Given the description of an element on the screen output the (x, y) to click on. 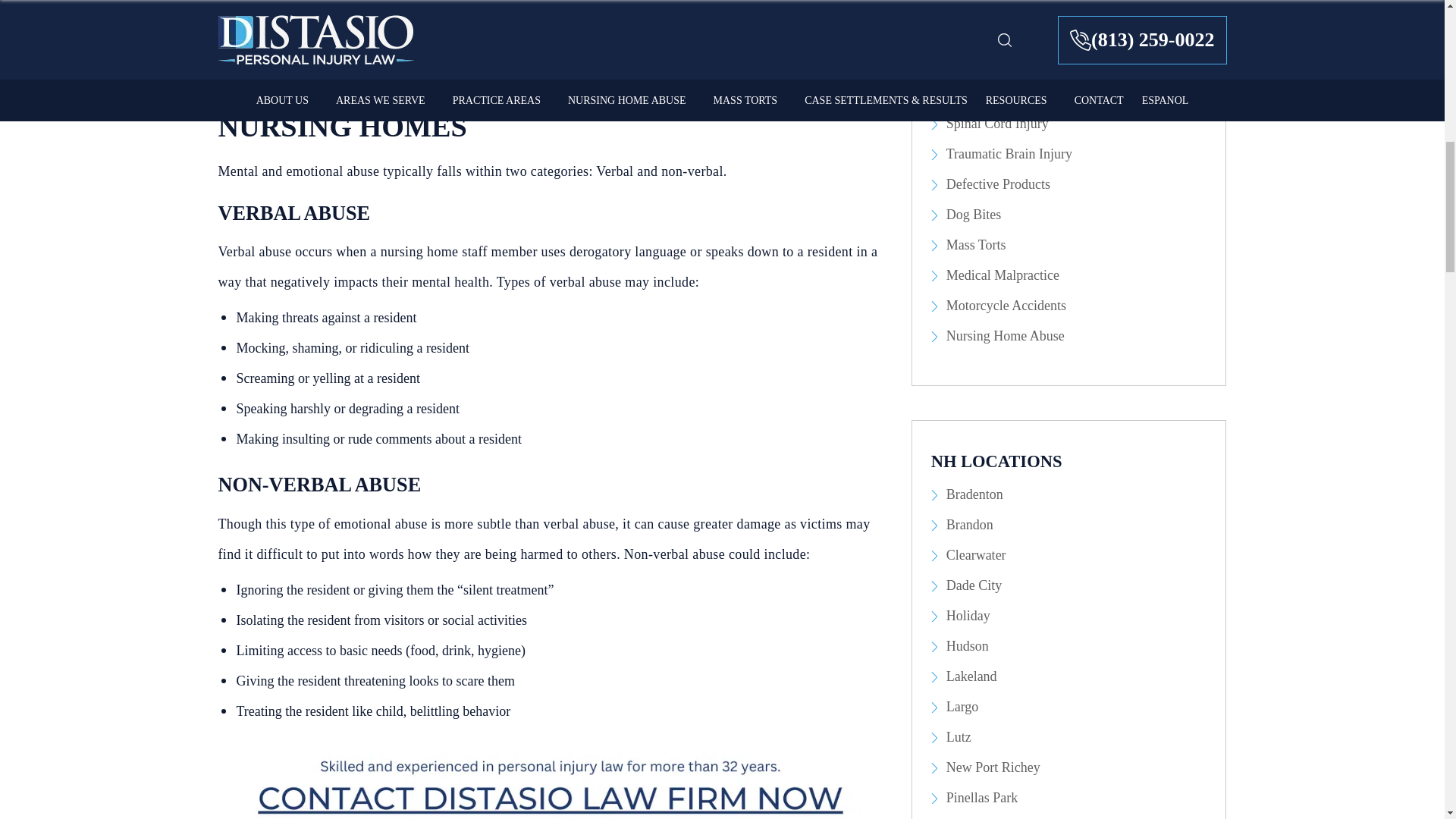
Mental or Emotional Abuse in Wesley Chapel Nursing Homes 1 (550, 782)
